Given the description of an element on the screen output the (x, y) to click on. 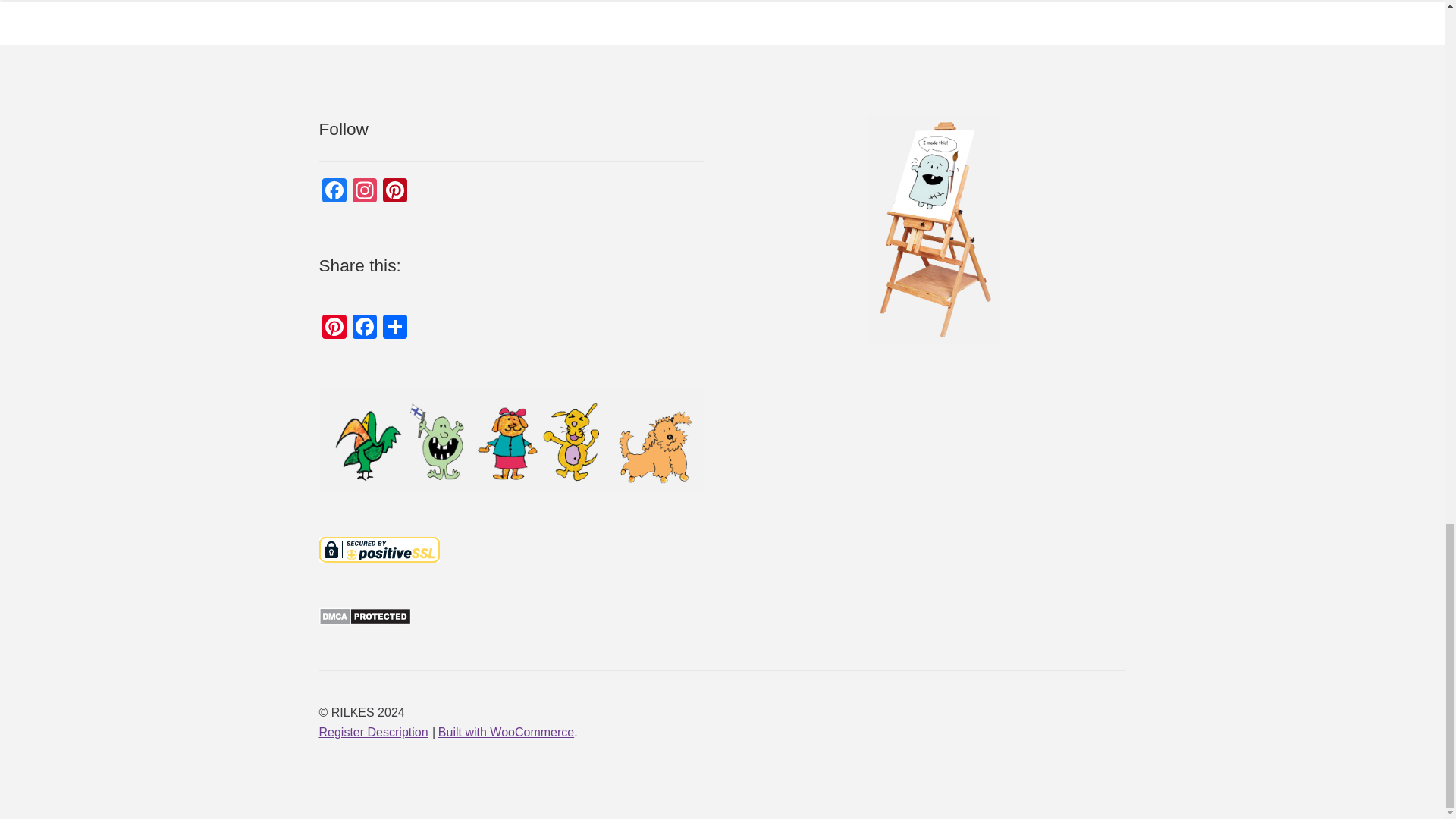
Facebook (364, 328)
Pinterest (395, 192)
WooCommerce - The Best eCommerce Platform for WordPress (505, 731)
Pinterest (333, 328)
Facebook (333, 192)
DMCA.com Protection Status (511, 616)
Instagram (364, 192)
